Given the description of an element on the screen output the (x, y) to click on. 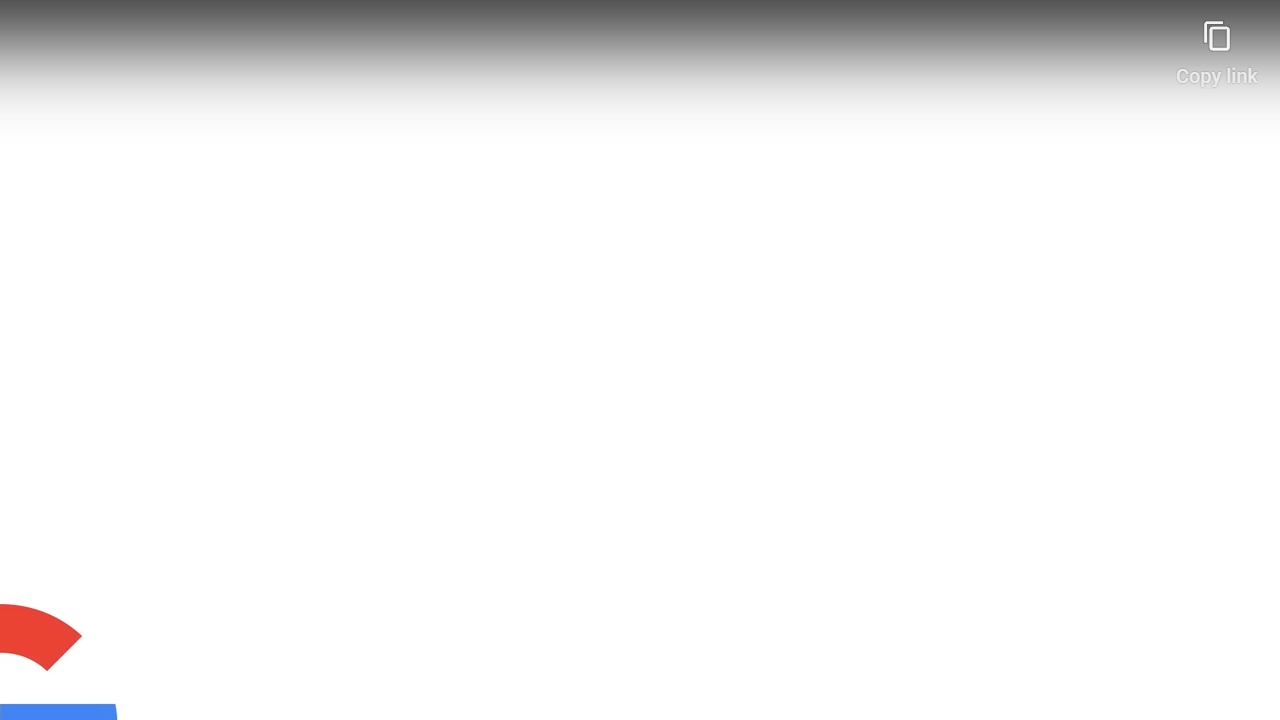
Copy link (1216, 44)
